Given the description of an element on the screen output the (x, y) to click on. 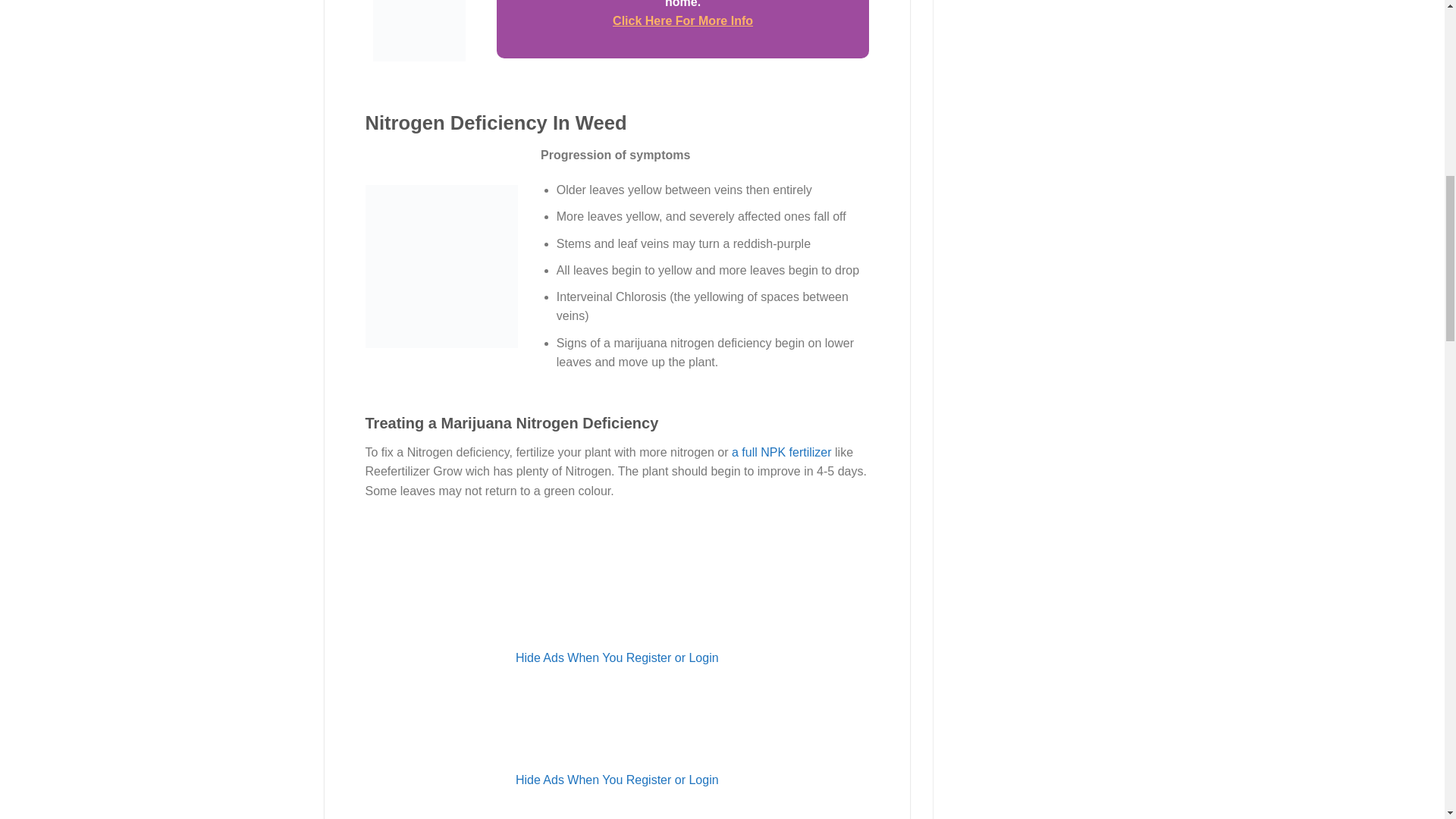
Types of Weed Fertilizer (781, 451)
Hide Ads When You Register or Login (617, 779)
Click Here For More Info (682, 20)
Hide Ads When You Register or Login (617, 657)
a full NPK fertilizer (781, 451)
